Given the description of an element on the screen output the (x, y) to click on. 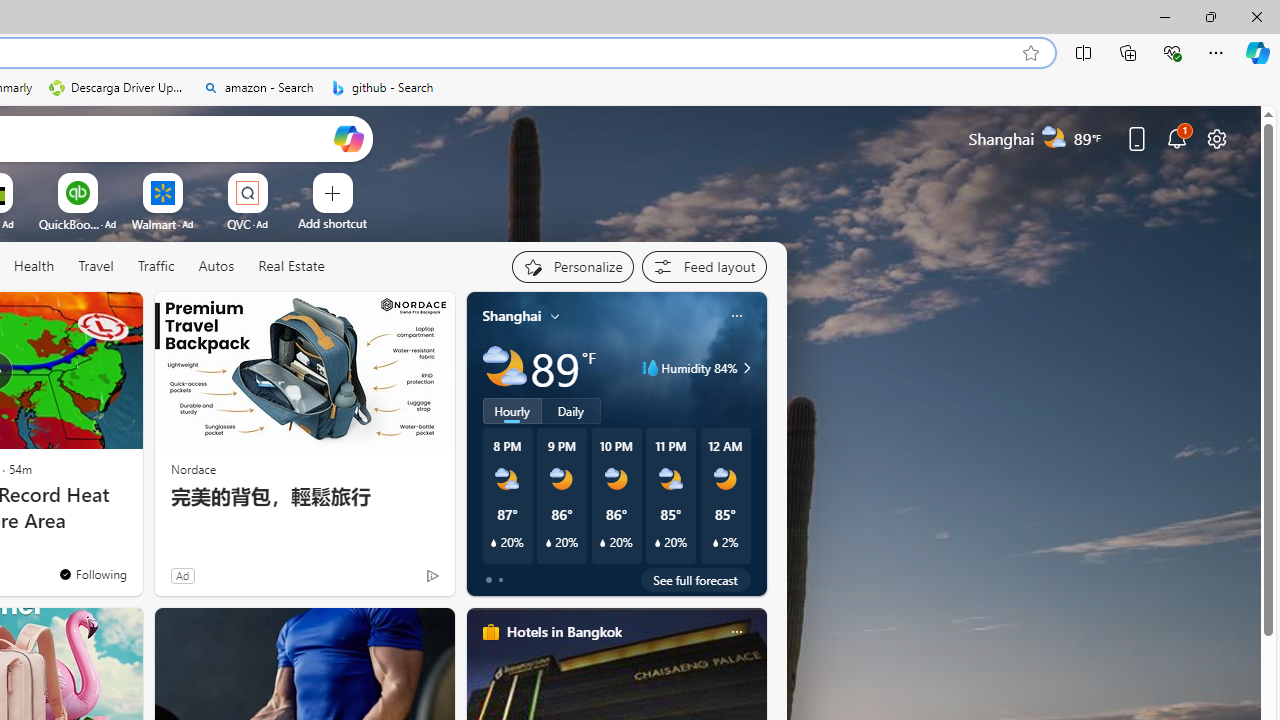
Daily (571, 411)
Health (33, 267)
Partly cloudy (504, 368)
Autos (215, 265)
Travel (95, 267)
Notifications (1176, 138)
